Given the description of an element on the screen output the (x, y) to click on. 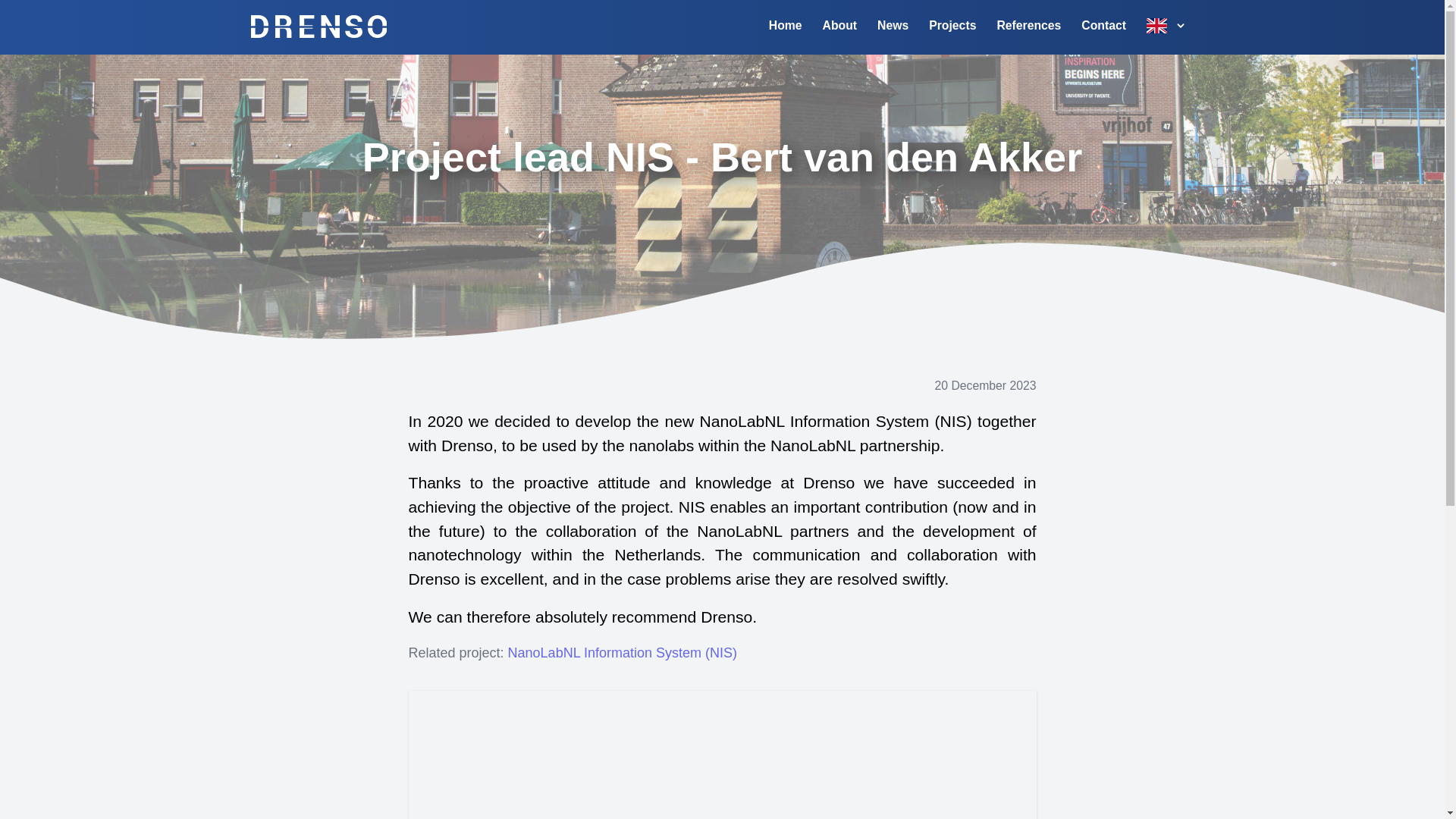
Projects (951, 25)
Contact (1103, 25)
References (1028, 25)
Home (785, 25)
About (839, 25)
News (892, 25)
